Given the description of an element on the screen output the (x, y) to click on. 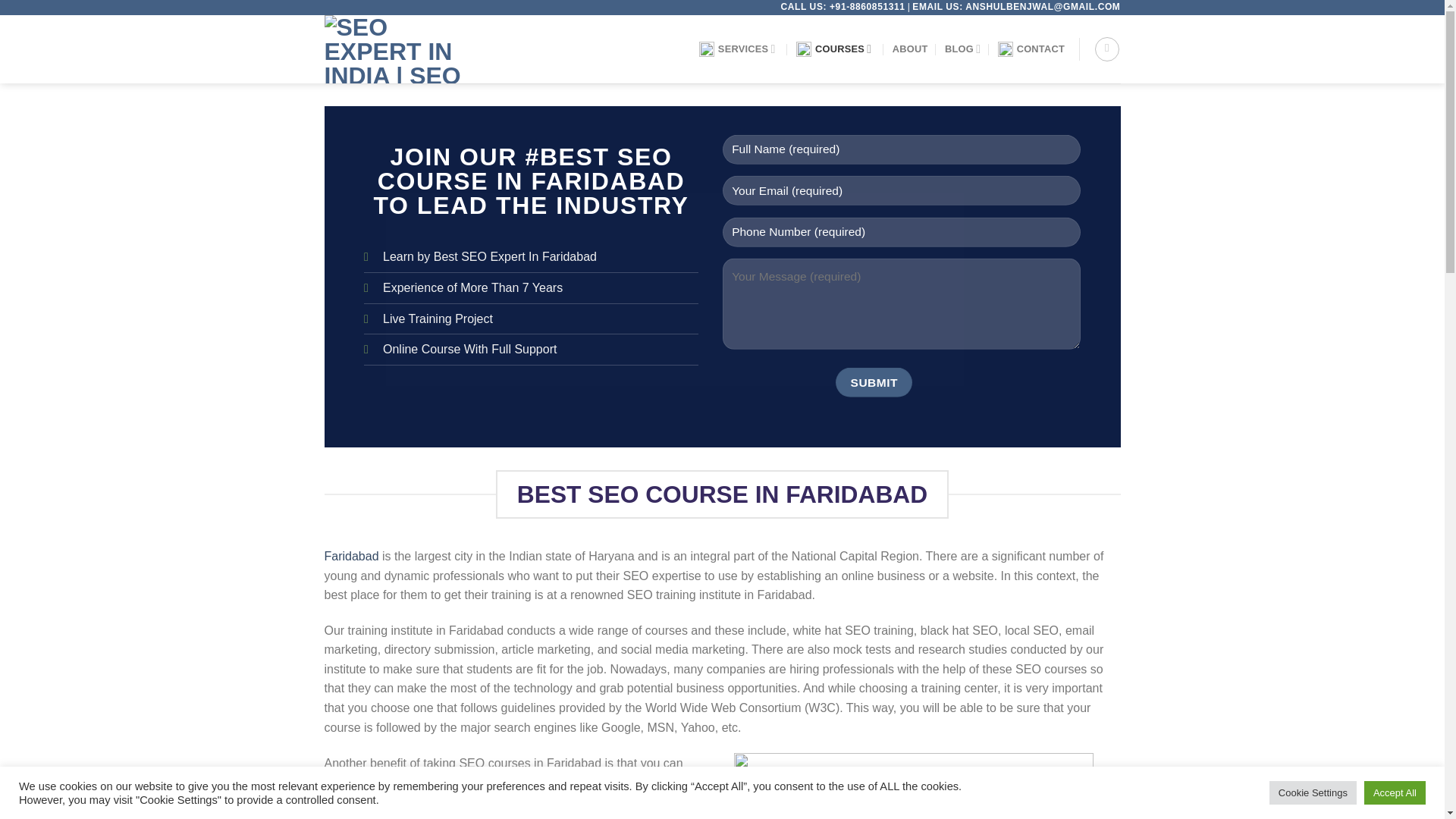
SERVICES (738, 49)
BLOG (961, 49)
Faridabad (351, 555)
Submit (873, 381)
COURSES (835, 49)
CONTACT (1030, 49)
Submit (873, 381)
ABOUT (910, 49)
